Given the description of an element on the screen output the (x, y) to click on. 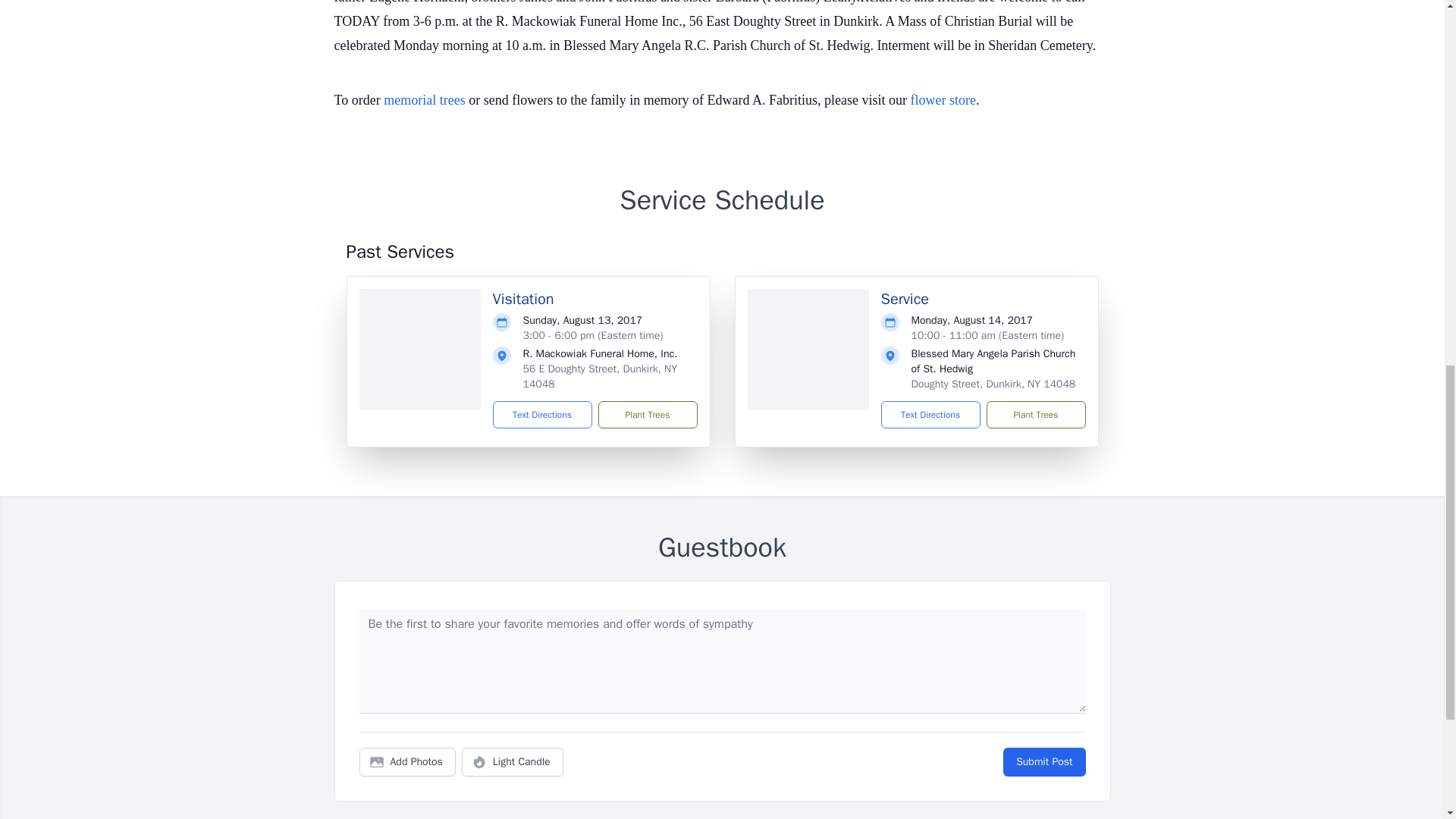
Submit Post (1043, 761)
Add Photos (407, 761)
Text Directions (929, 414)
Doughty Street, Dunkirk, NY 14048 (993, 383)
Plant Trees (1034, 414)
56 E Doughty Street, Dunkirk, NY 14048 (600, 376)
Text Directions (542, 414)
memorial trees (424, 99)
Light Candle (512, 761)
Plant Trees (646, 414)
